Given the description of an element on the screen output the (x, y) to click on. 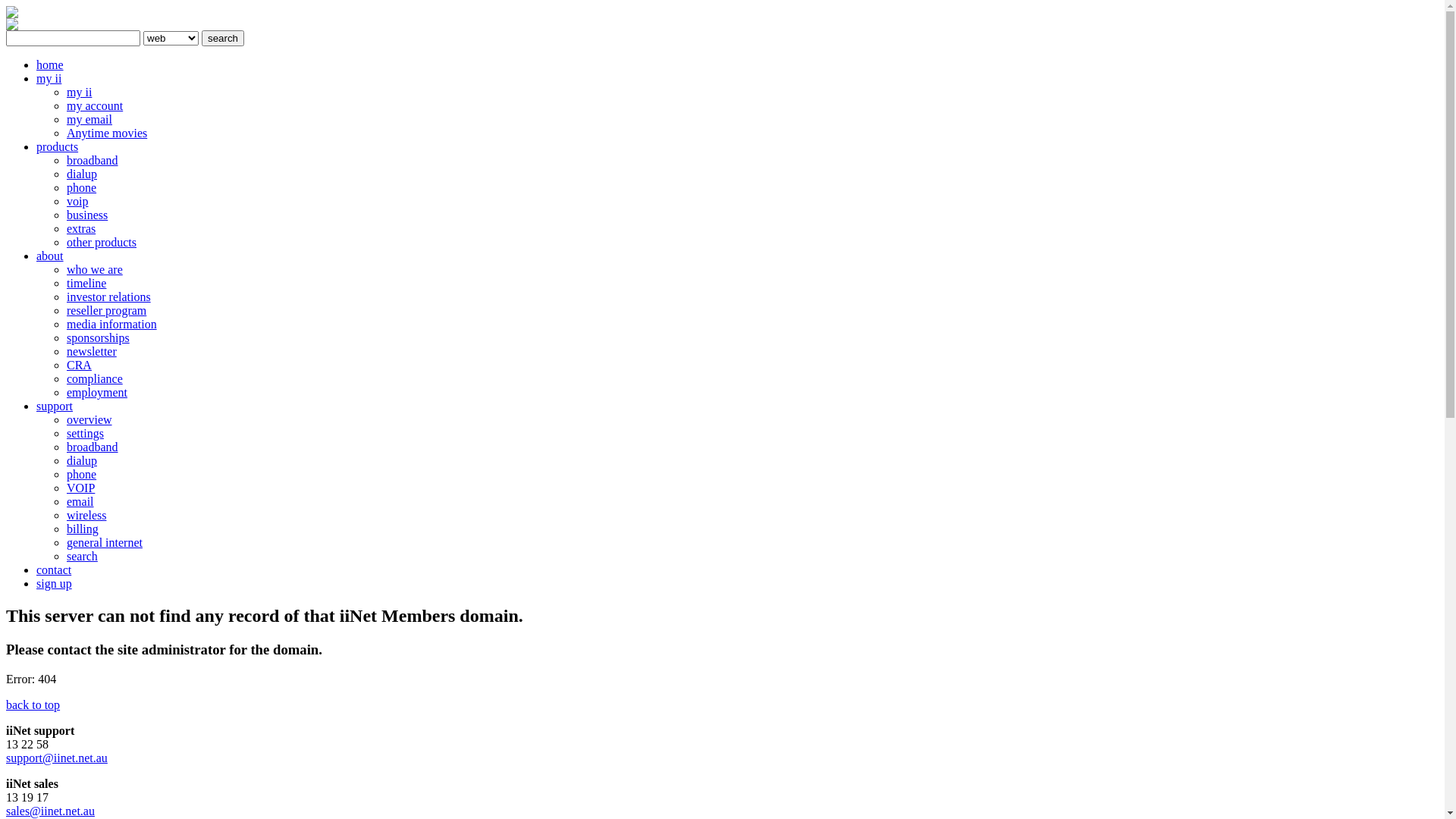
my ii Element type: text (48, 78)
sales@iinet.net.au Element type: text (50, 810)
investor relations Element type: text (108, 296)
reseller program Element type: text (106, 310)
email Element type: text (80, 501)
employment Element type: text (96, 391)
who we are Element type: text (94, 269)
dialup Element type: text (81, 460)
voip Element type: text (76, 200)
timeline Element type: text (86, 282)
sign up Element type: text (54, 583)
CRA Element type: text (78, 364)
general internet Element type: text (104, 542)
search Element type: text (222, 38)
billing Element type: text (82, 528)
support Element type: text (54, 405)
support@iinet.net.au Element type: text (56, 757)
phone Element type: text (81, 187)
contact Element type: text (53, 569)
other products Element type: text (101, 241)
broadband Element type: text (92, 159)
products Element type: text (57, 146)
phone Element type: text (81, 473)
my ii Element type: text (78, 91)
wireless Element type: text (86, 514)
overview Element type: text (89, 419)
settings Element type: text (84, 432)
business Element type: text (86, 214)
Anytime movies Element type: text (106, 132)
my email Element type: text (89, 118)
my account Element type: text (94, 105)
sponsorships Element type: text (97, 337)
about Element type: text (49, 255)
dialup Element type: text (81, 173)
media information Element type: text (111, 323)
home Element type: text (49, 64)
back to top Element type: text (32, 704)
broadband Element type: text (92, 446)
search Element type: text (81, 555)
newsletter Element type: text (91, 351)
compliance Element type: text (94, 378)
VOIP Element type: text (80, 487)
extras Element type: text (80, 228)
